Given the description of an element on the screen output the (x, y) to click on. 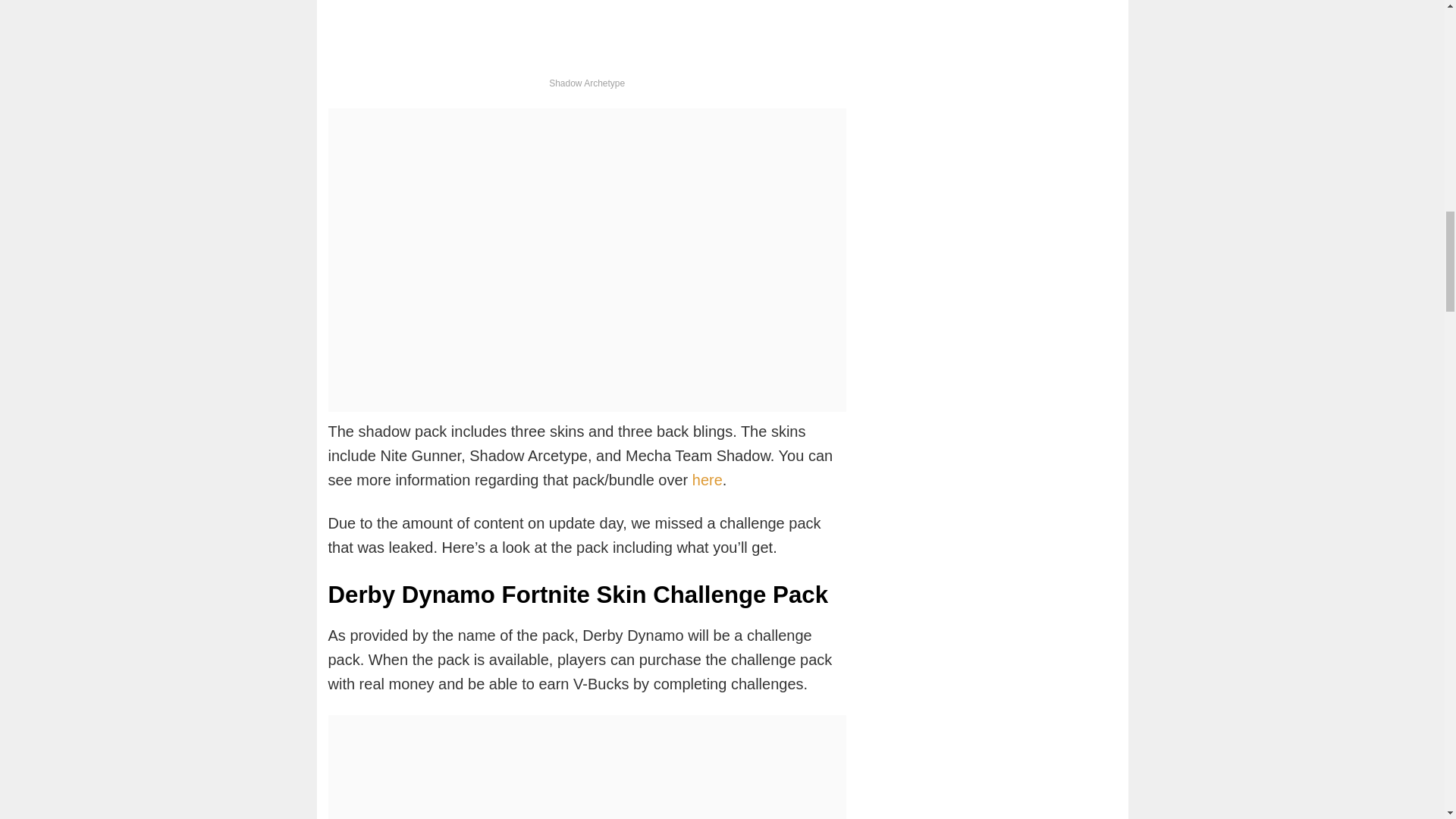
here (707, 479)
